Given the description of an element on the screen output the (x, y) to click on. 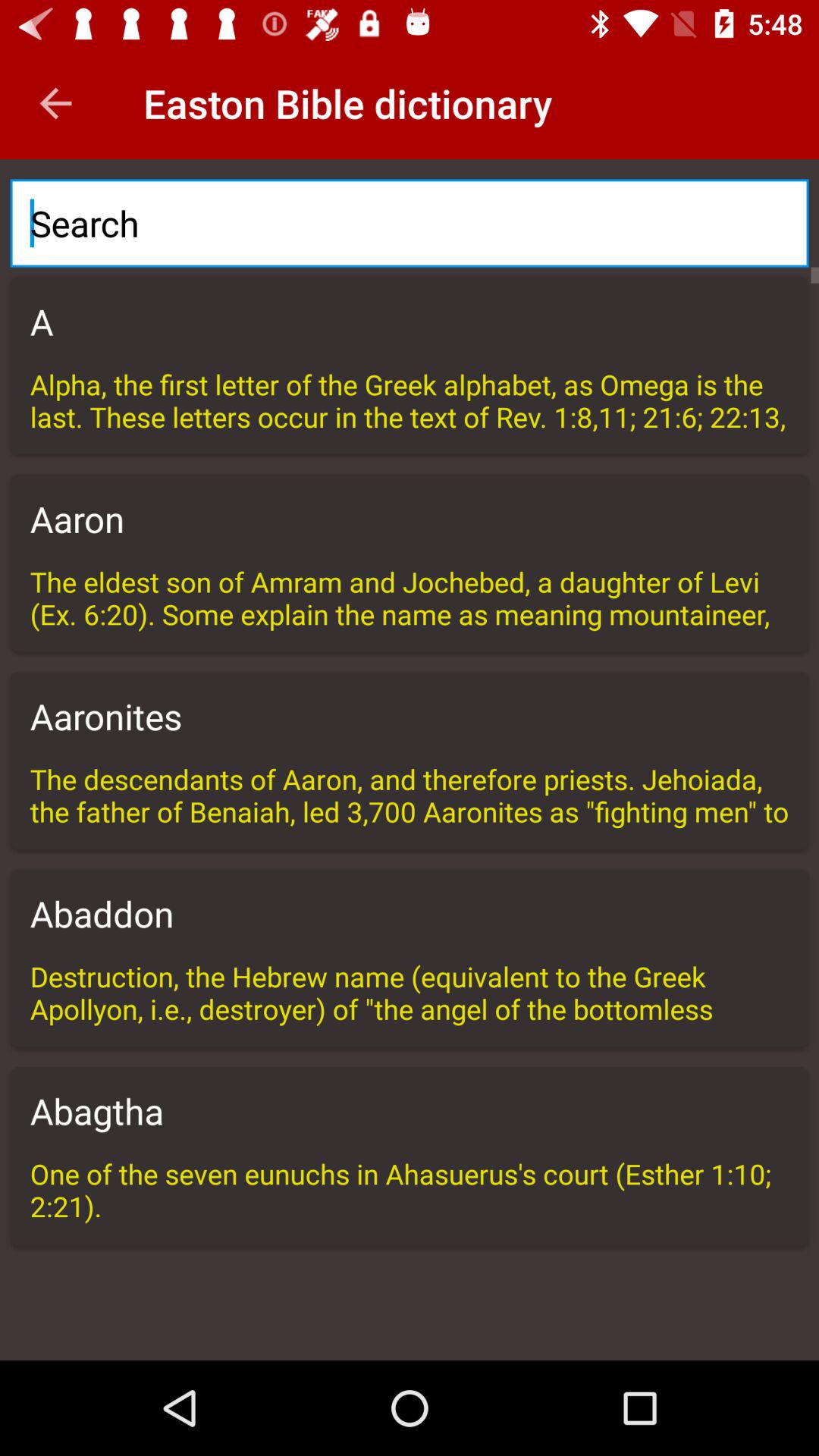
go back to previous page (55, 103)
